Given the description of an element on the screen output the (x, y) to click on. 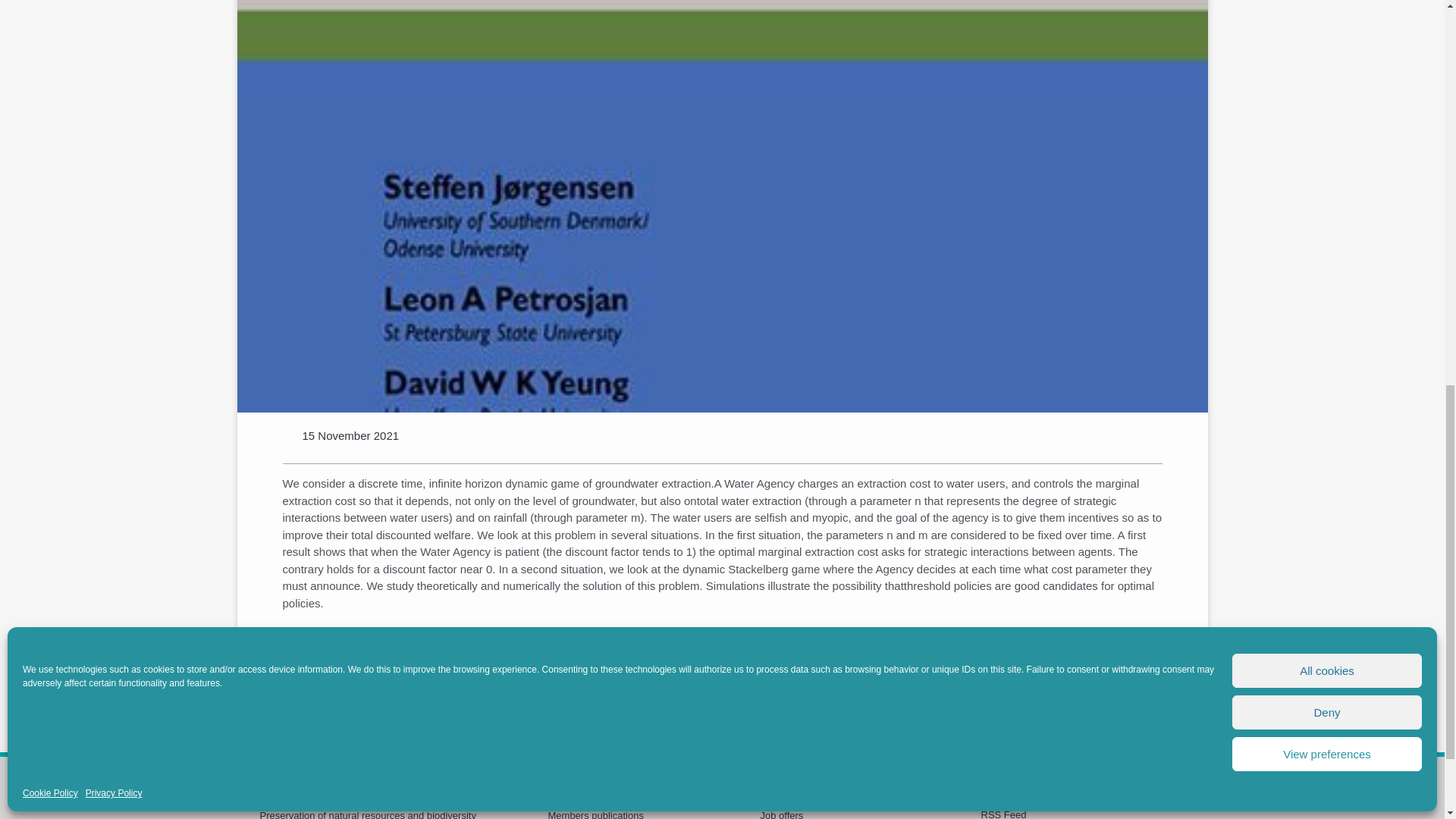
Job offers (781, 814)
Preservation of natural resources and biodiversity (367, 814)
Members publications (595, 814)
